Given the description of an element on the screen output the (x, y) to click on. 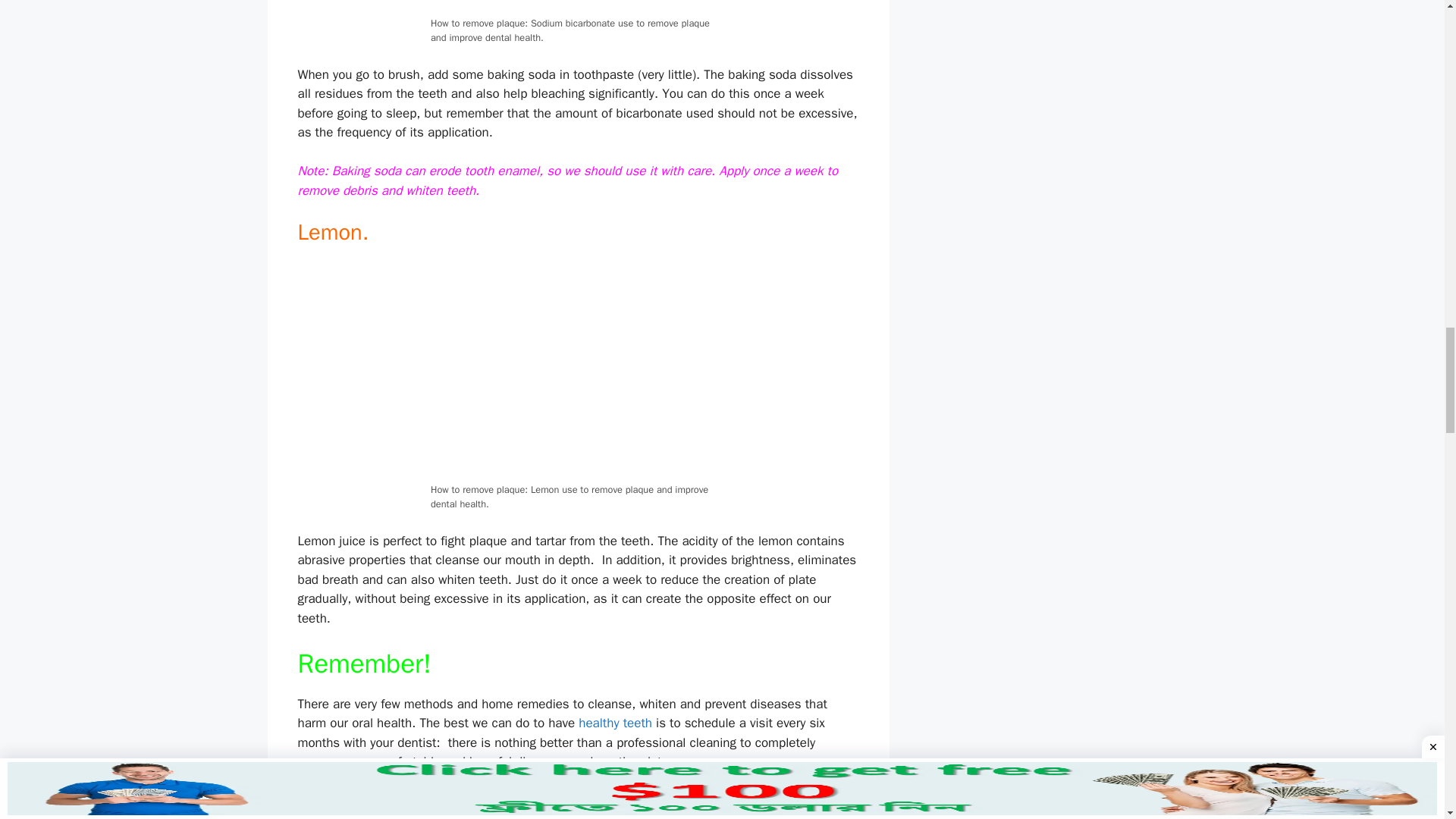
healthy teeth (615, 722)
